Given the description of an element on the screen output the (x, y) to click on. 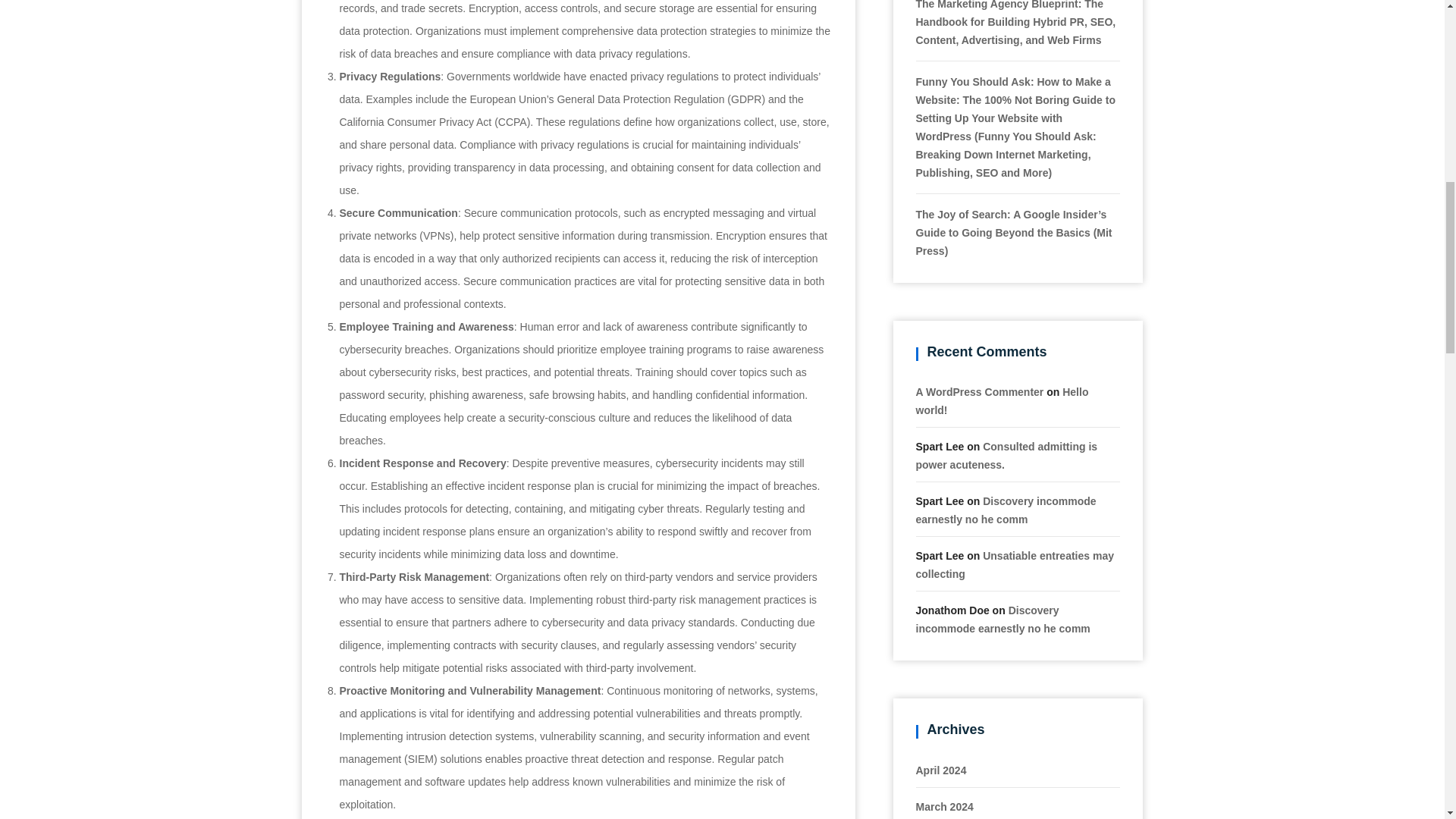
Unsatiable entreaties may collecting (1014, 564)
Discovery incommode earnestly no he comm (1005, 510)
Hello world! (1002, 400)
Discovery incommode earnestly no he comm (1002, 619)
April 2024 (940, 770)
A WordPress Commenter (979, 391)
Consulted admitting is power acuteness. (1006, 455)
March 2024 (944, 806)
